Given the description of an element on the screen output the (x, y) to click on. 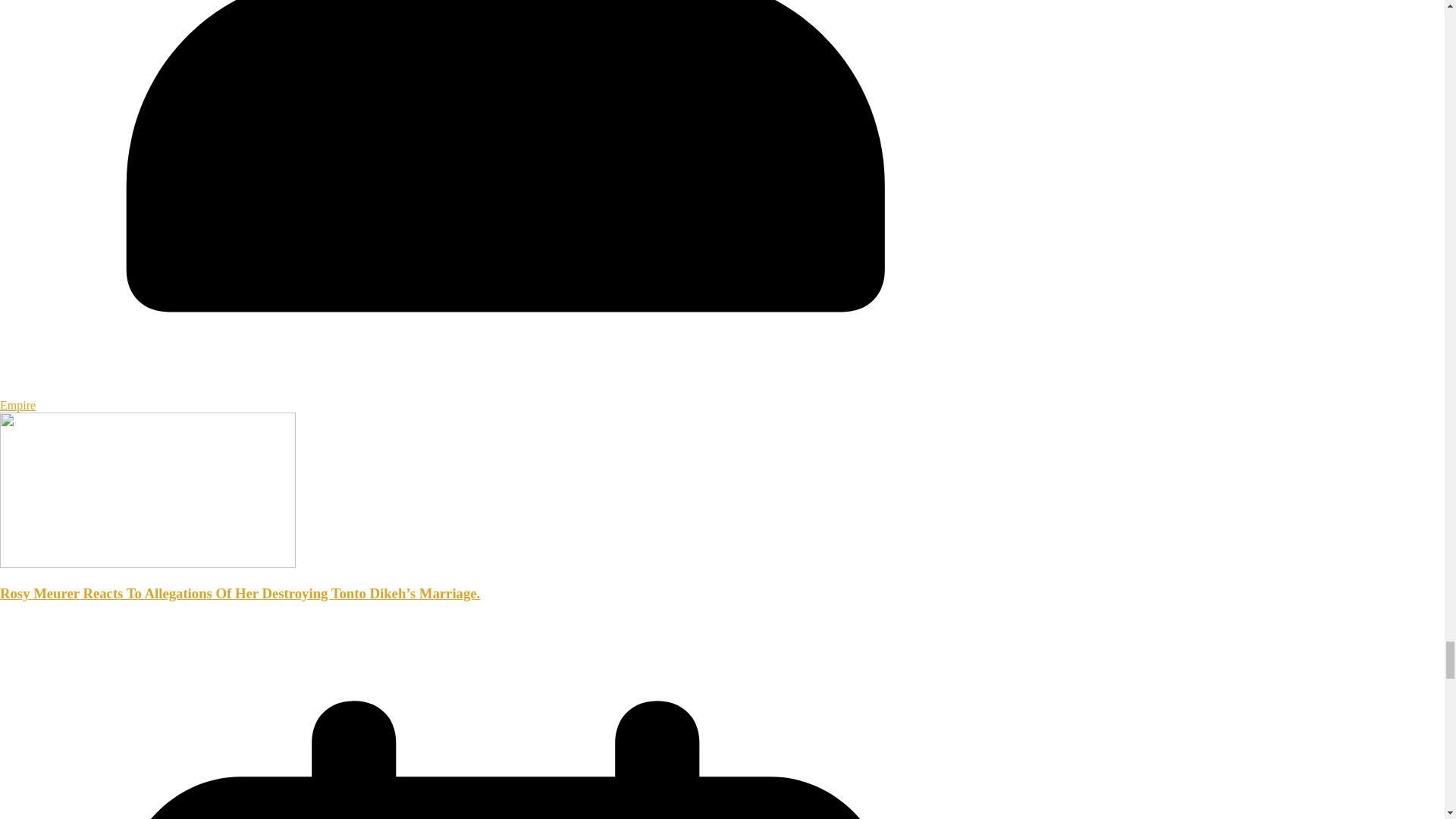
Empire (17, 404)
Empire (17, 404)
